Given the description of an element on the screen output the (x, y) to click on. 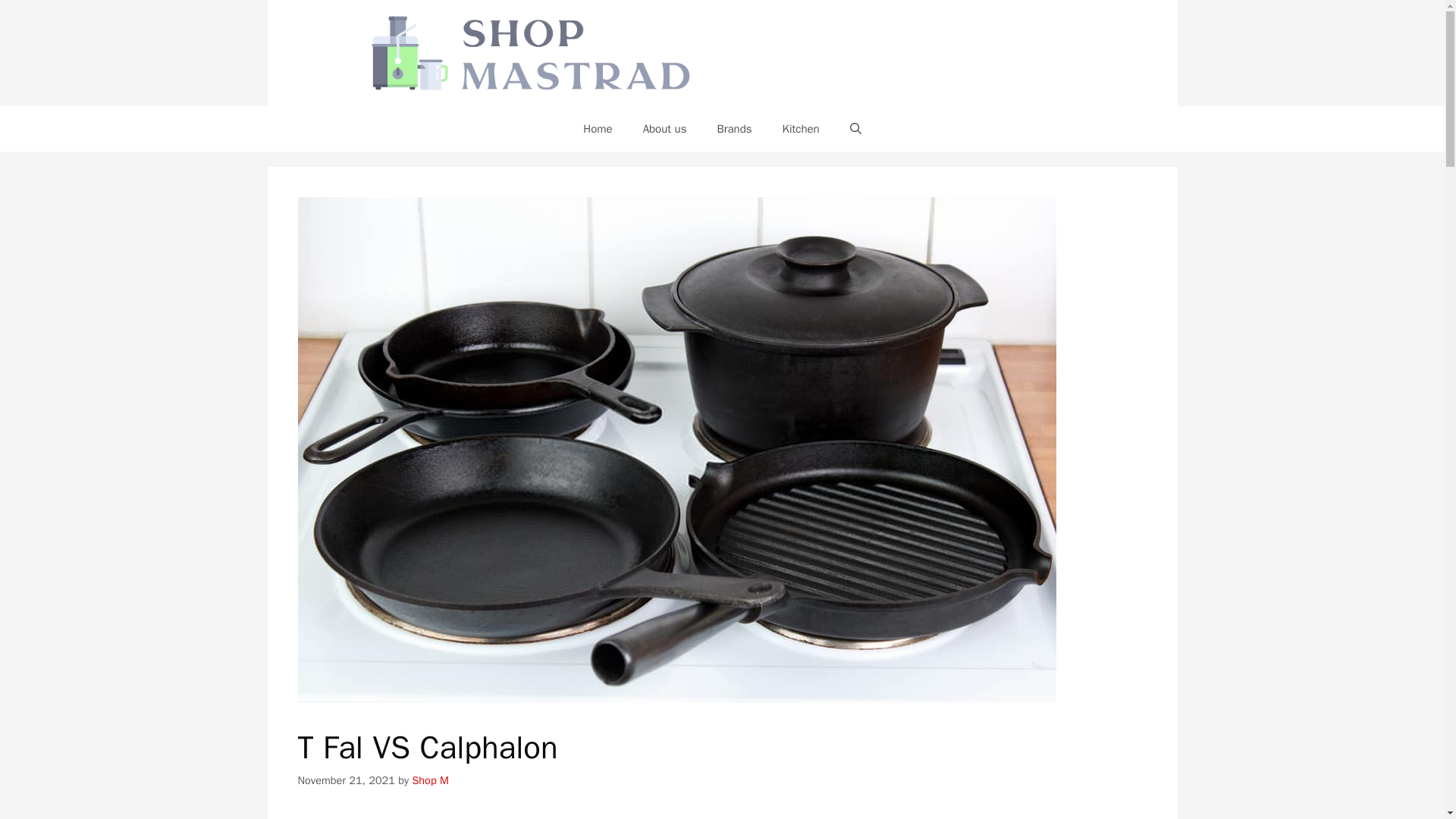
Brands (734, 128)
Shop M (430, 780)
Kitchen (800, 128)
Home (597, 128)
View all posts by Shop M (430, 780)
About us (664, 128)
